Given the description of an element on the screen output the (x, y) to click on. 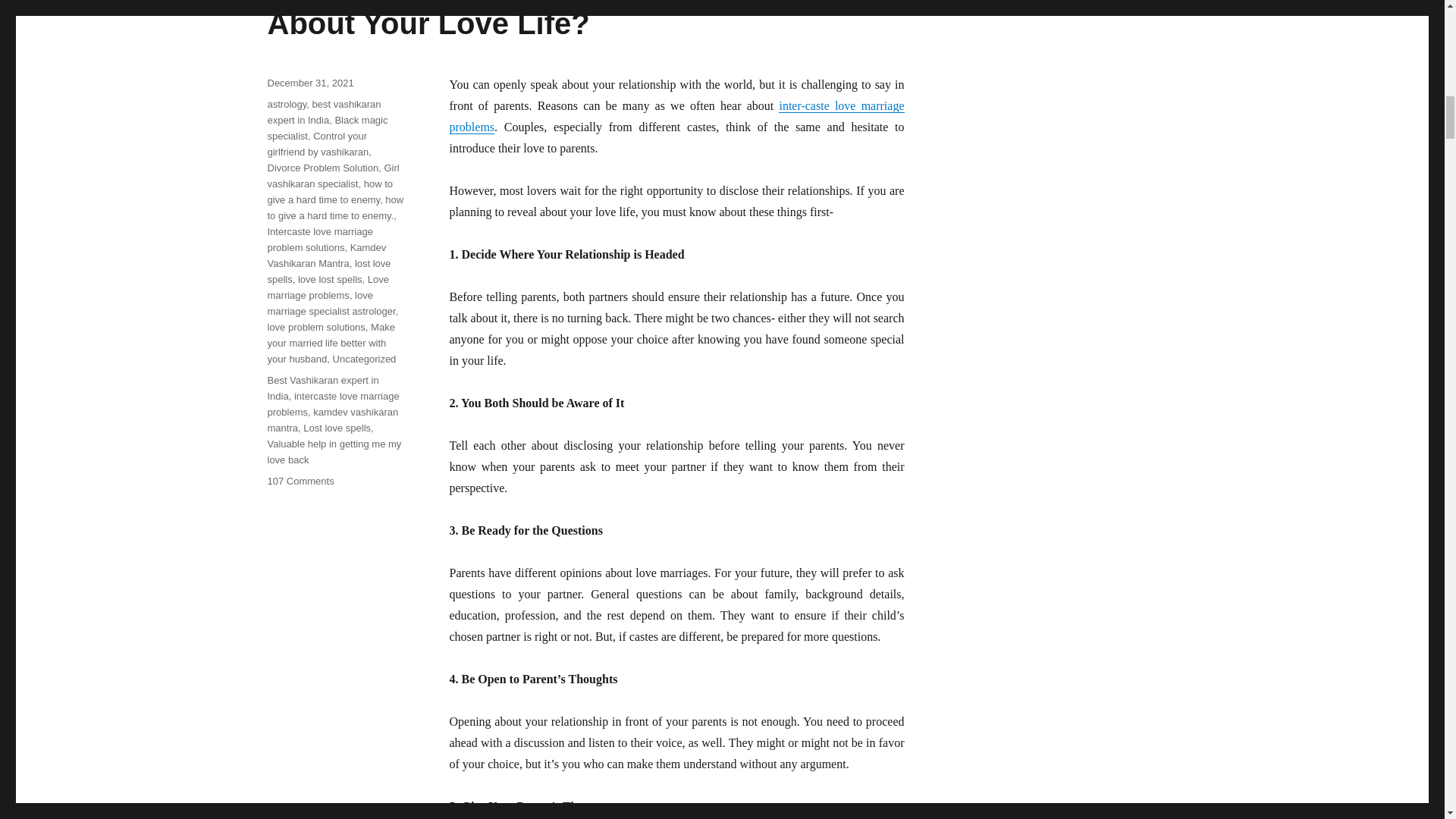
Divorce Problem Solution (322, 167)
inter-caste love marriage problems (676, 116)
December 31, 2021 (309, 82)
Girl vashikaran specialist (332, 175)
Control your girlfriend by vashikaran (317, 144)
best vashikaran expert in India (323, 112)
Black magic specialist (326, 127)
astrology (285, 103)
